Given the description of an element on the screen output the (x, y) to click on. 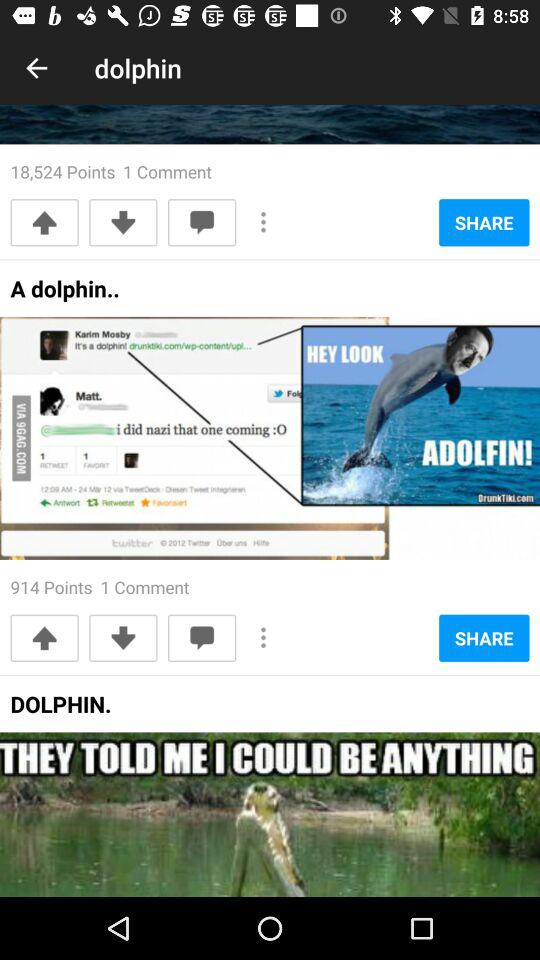
click the 18 524 points (110, 171)
